Given the description of an element on the screen output the (x, y) to click on. 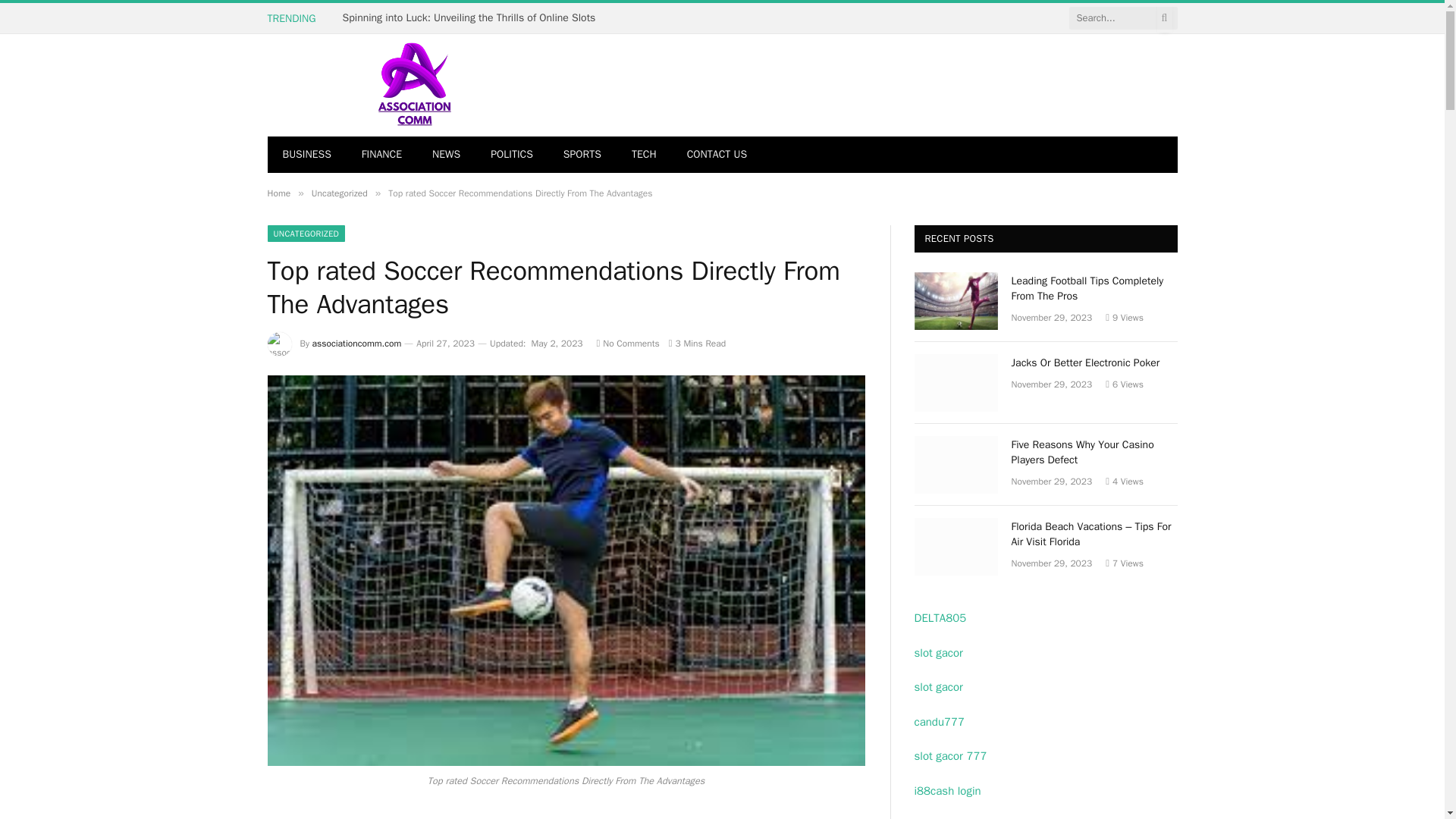
NEWS (446, 154)
Leading Football Tips Completely From The Pros (955, 300)
UNCATEGORIZED (305, 233)
TECH (643, 154)
FINANCE (381, 154)
Posts by associationcomm.com (357, 343)
Color Therapy In Your Own House (423, 18)
Uncategorized (339, 193)
associationcomm.com (357, 343)
